Given the description of an element on the screen output the (x, y) to click on. 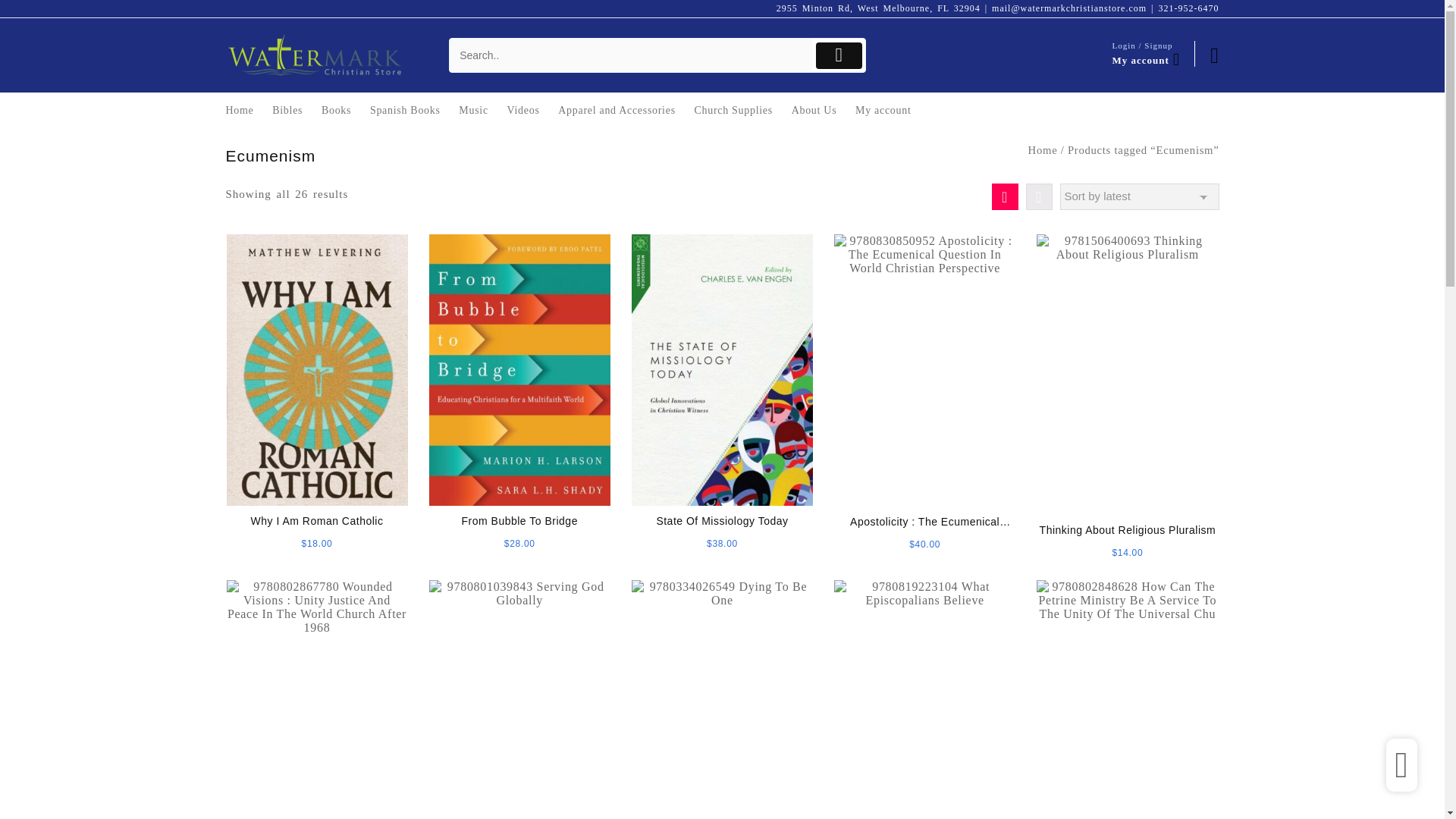
2955 Minton Rd, West Melbourne, FL 32904 (877, 8)
Search (630, 55)
321-952-6470 (1189, 8)
Submit (838, 55)
Grid View (1004, 196)
List View (1038, 196)
